Given the description of an element on the screen output the (x, y) to click on. 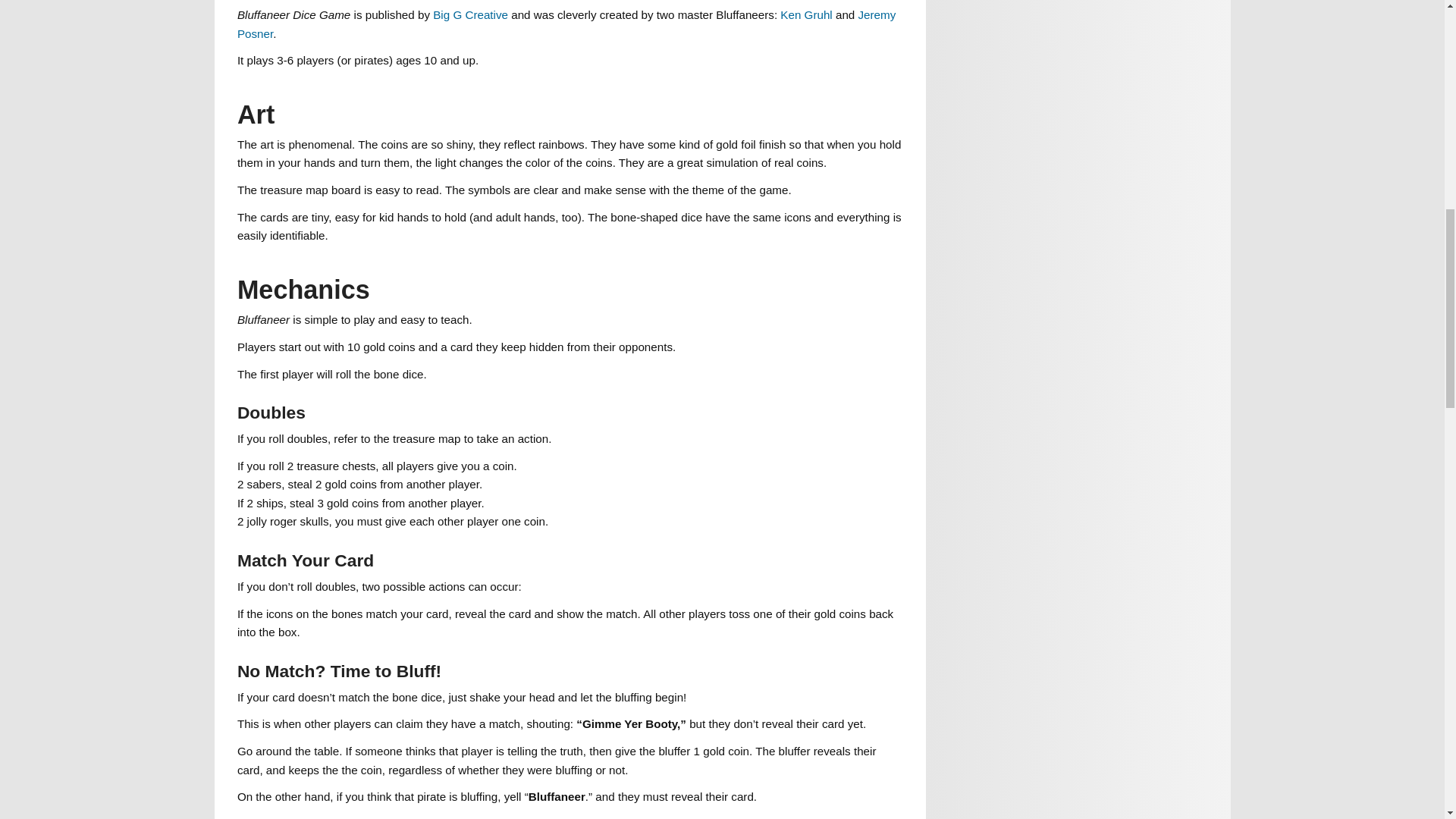
Ken Gruhl (805, 14)
Big G Creative (470, 14)
Jeremy Posner (566, 23)
